Given the description of an element on the screen output the (x, y) to click on. 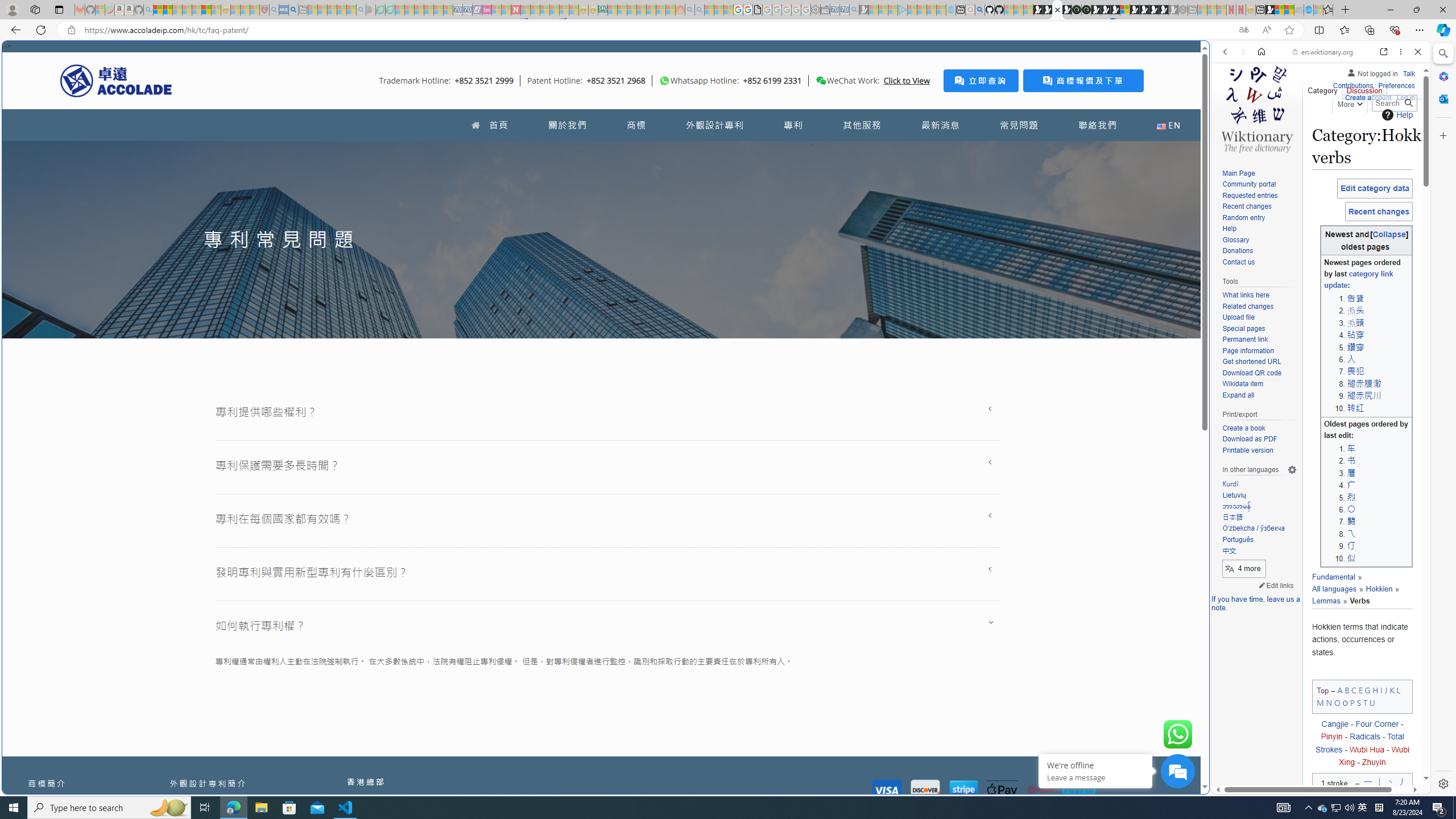
Contributions (1352, 85)
Get shortened URL (1251, 361)
Community portal (1248, 184)
E (1360, 689)
I (1381, 689)
